Given the description of an element on the screen output the (x, y) to click on. 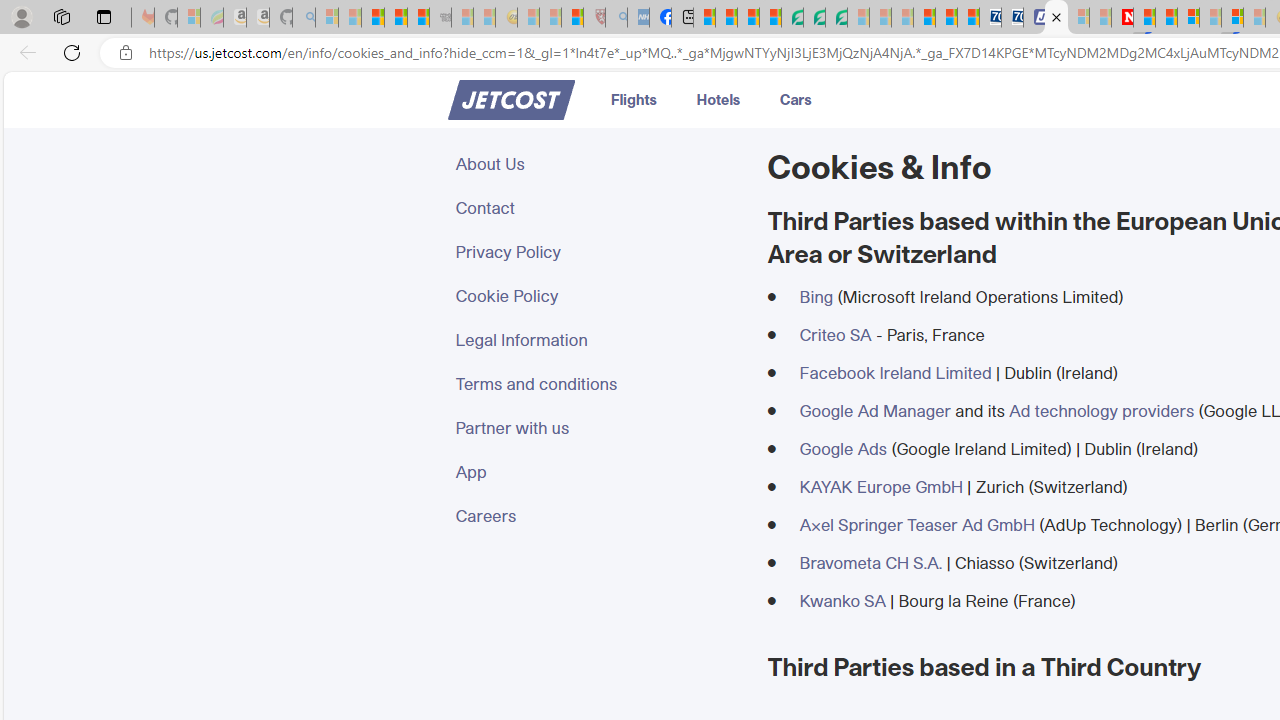
Cookie Policy (599, 295)
Cars (796, 98)
Local - MSN (571, 17)
Legal Information (599, 339)
Partner with us (599, 427)
Partner with us (599, 427)
